Given the description of an element on the screen output the (x, y) to click on. 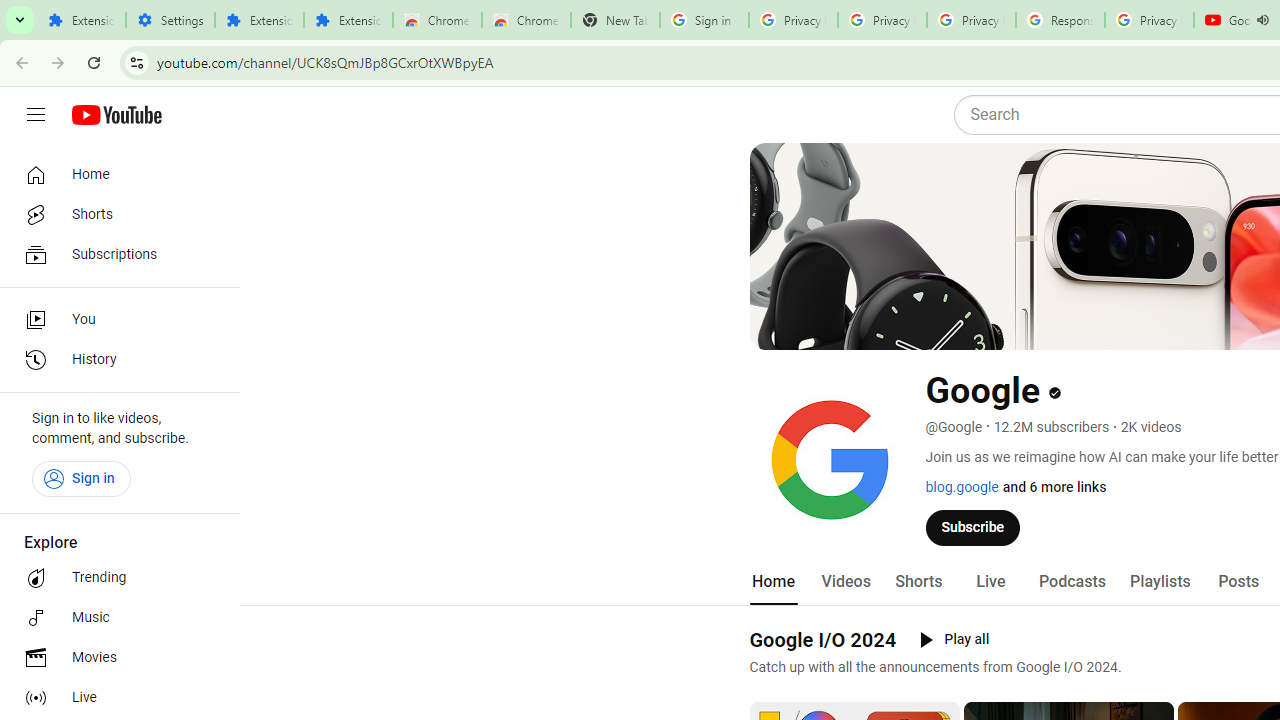
Chrome Web Store (437, 20)
Posts (1238, 581)
Live (113, 697)
Shorts (918, 581)
Chrome Web Store - Themes (526, 20)
Podcasts (1072, 581)
History (113, 359)
Sign in - Google Accounts (704, 20)
Subscribe (973, 527)
Trending (113, 578)
New Tab (615, 20)
Videos (845, 581)
